Given the description of an element on the screen output the (x, y) to click on. 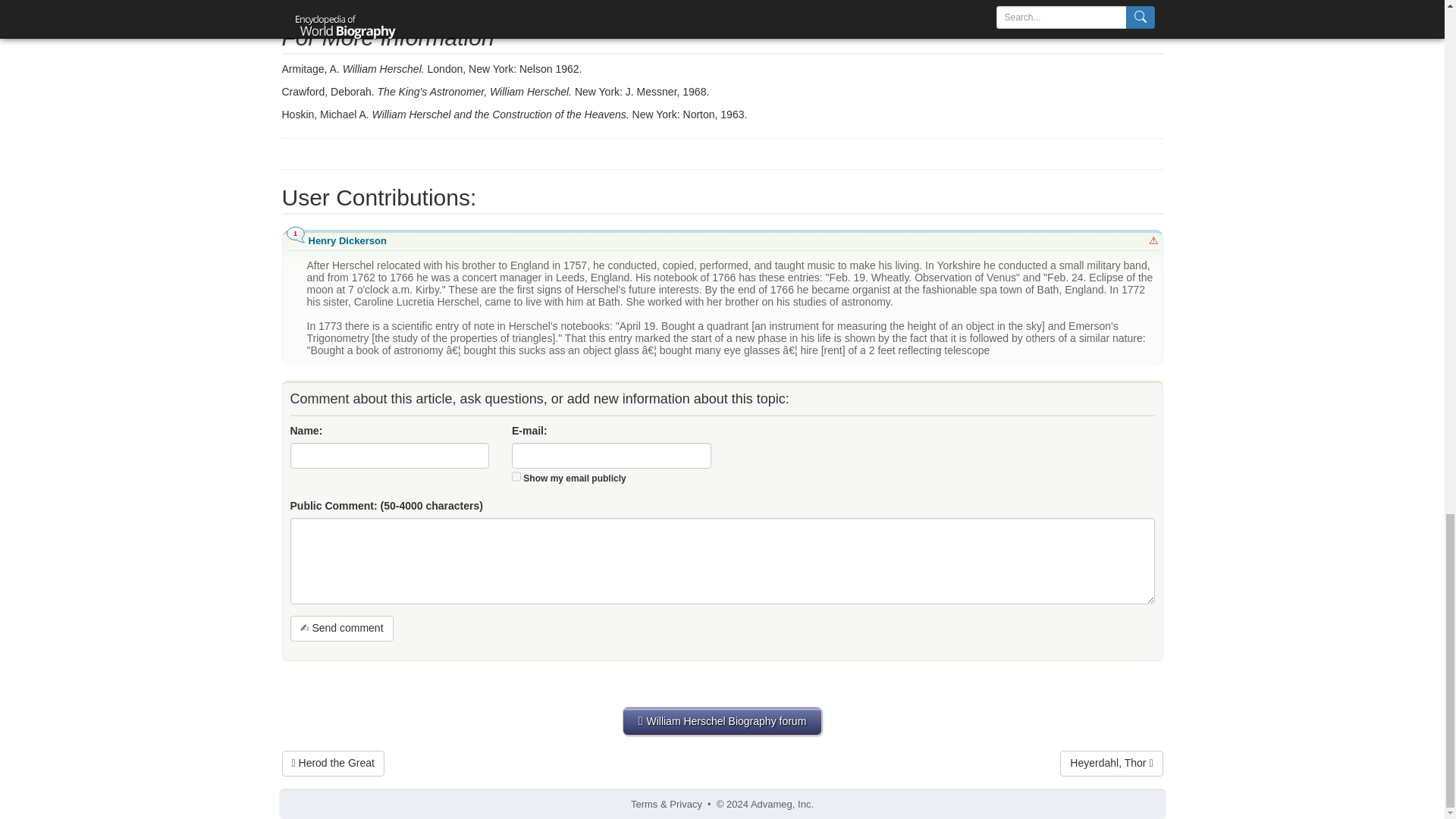
Herod the Great (333, 763)
William Herschel Biography forum (722, 720)
1 (516, 476)
Heyerdahl, Thor (1110, 763)
